Given the description of an element on the screen output the (x, y) to click on. 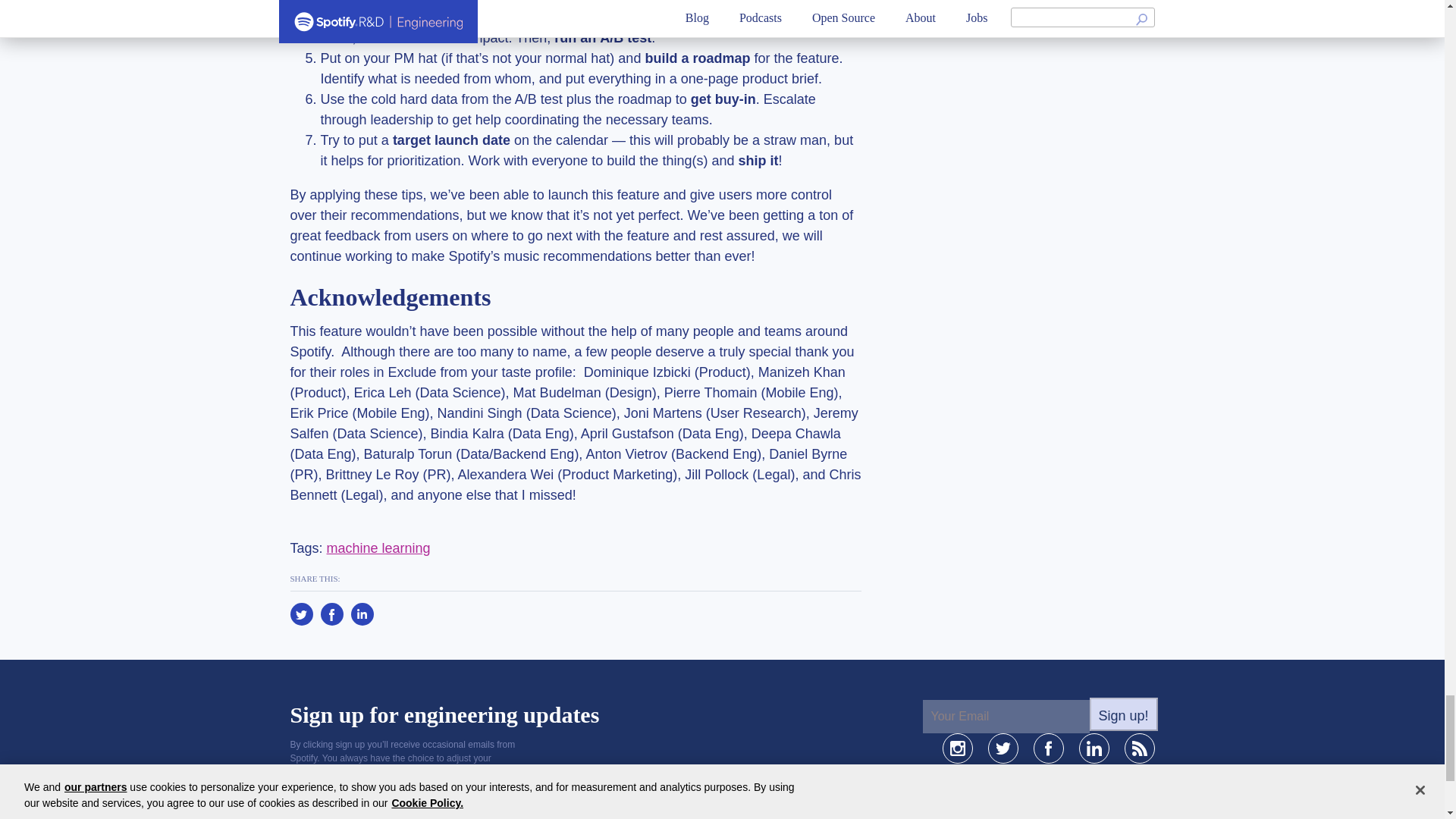
machine learning (378, 548)
Sign up! (1123, 714)
Sign up! (1123, 714)
